Given the description of an element on the screen output the (x, y) to click on. 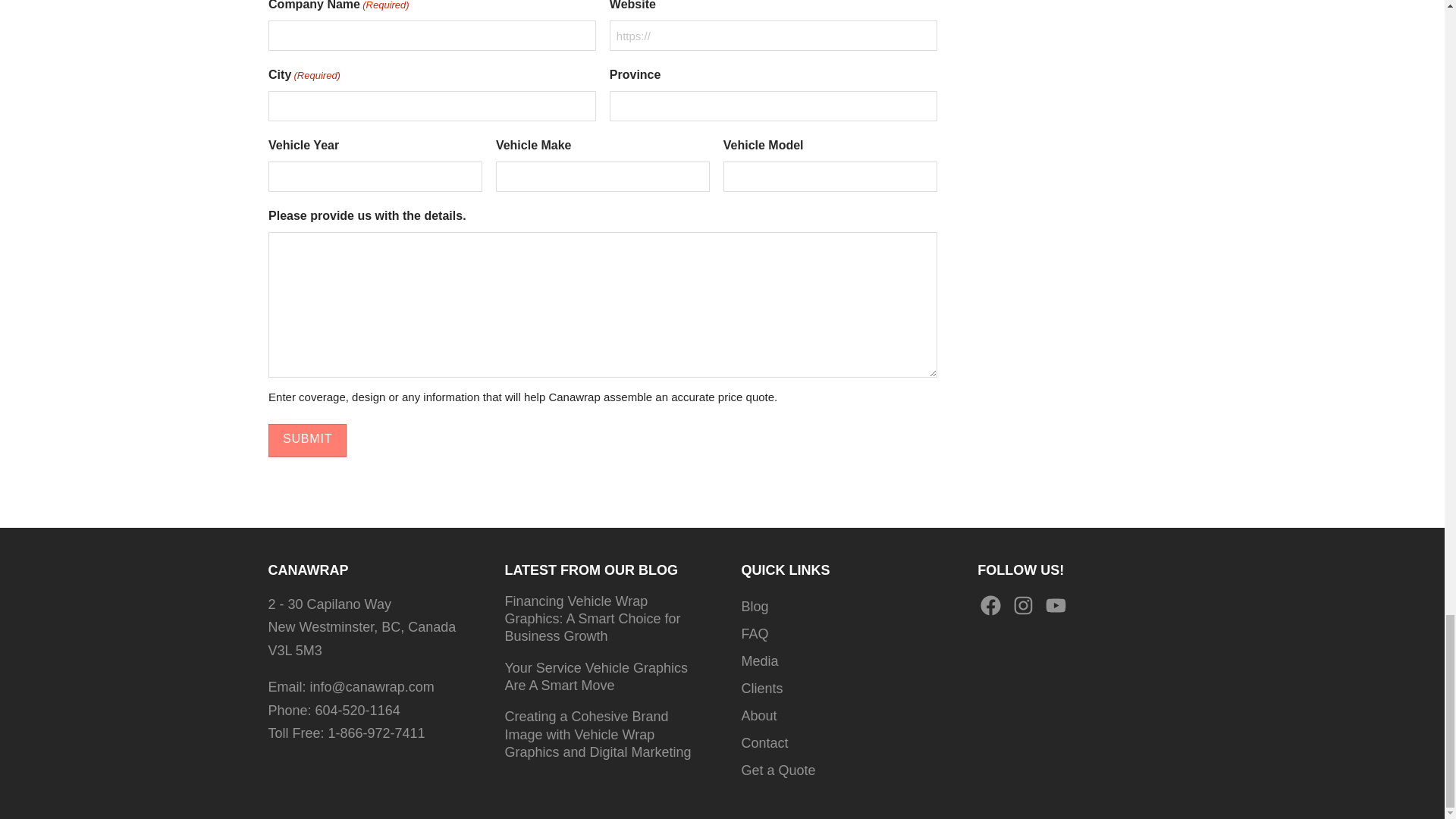
Submit (306, 440)
